Given the description of an element on the screen output the (x, y) to click on. 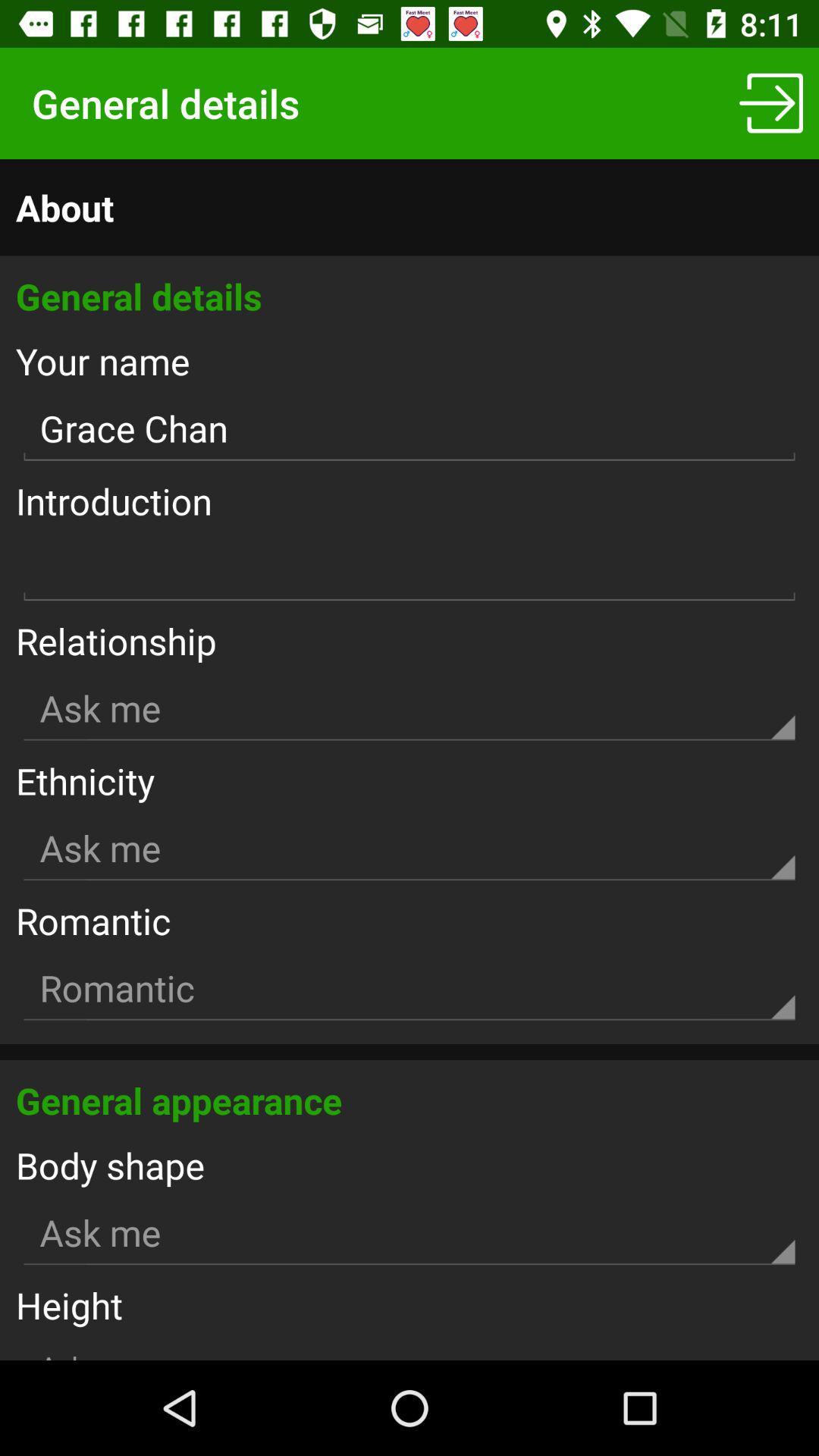
type your introduction here (409, 568)
